Given the description of an element on the screen output the (x, y) to click on. 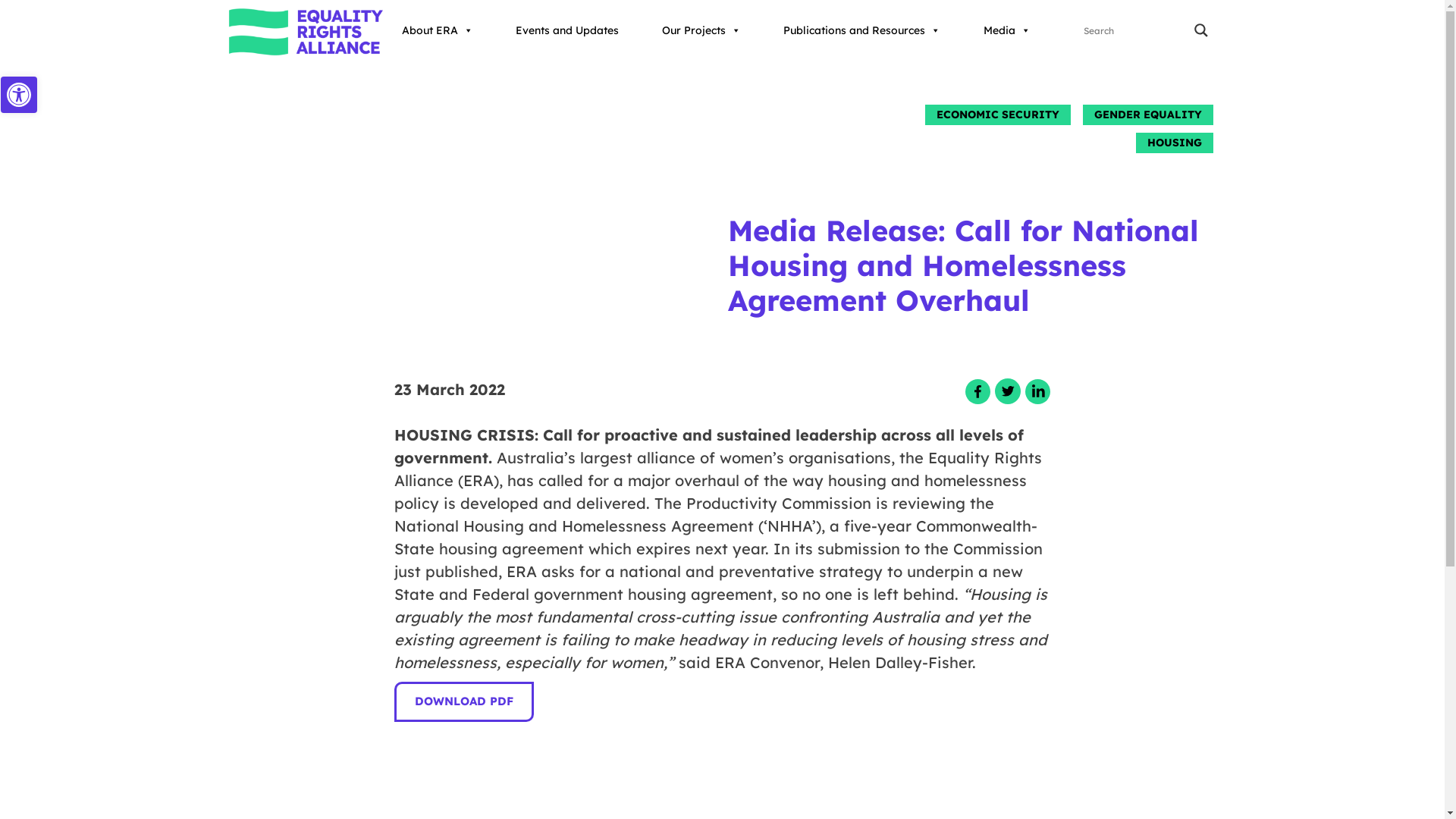
ECONOMIC SECURITY Element type: text (997, 114)
Media Element type: text (1006, 30)
Open toolbar
Accessibility Tools Element type: text (18, 94)
HOUSING Element type: text (1174, 142)
About ERA Element type: text (437, 30)
Publications and Resources Element type: text (861, 30)
GENDER EQUALITY Element type: text (1147, 114)
Our Projects Element type: text (701, 30)
DOWNLOAD PDF Element type: text (463, 701)
Events and Updates Element type: text (567, 30)
